Given the description of an element on the screen output the (x, y) to click on. 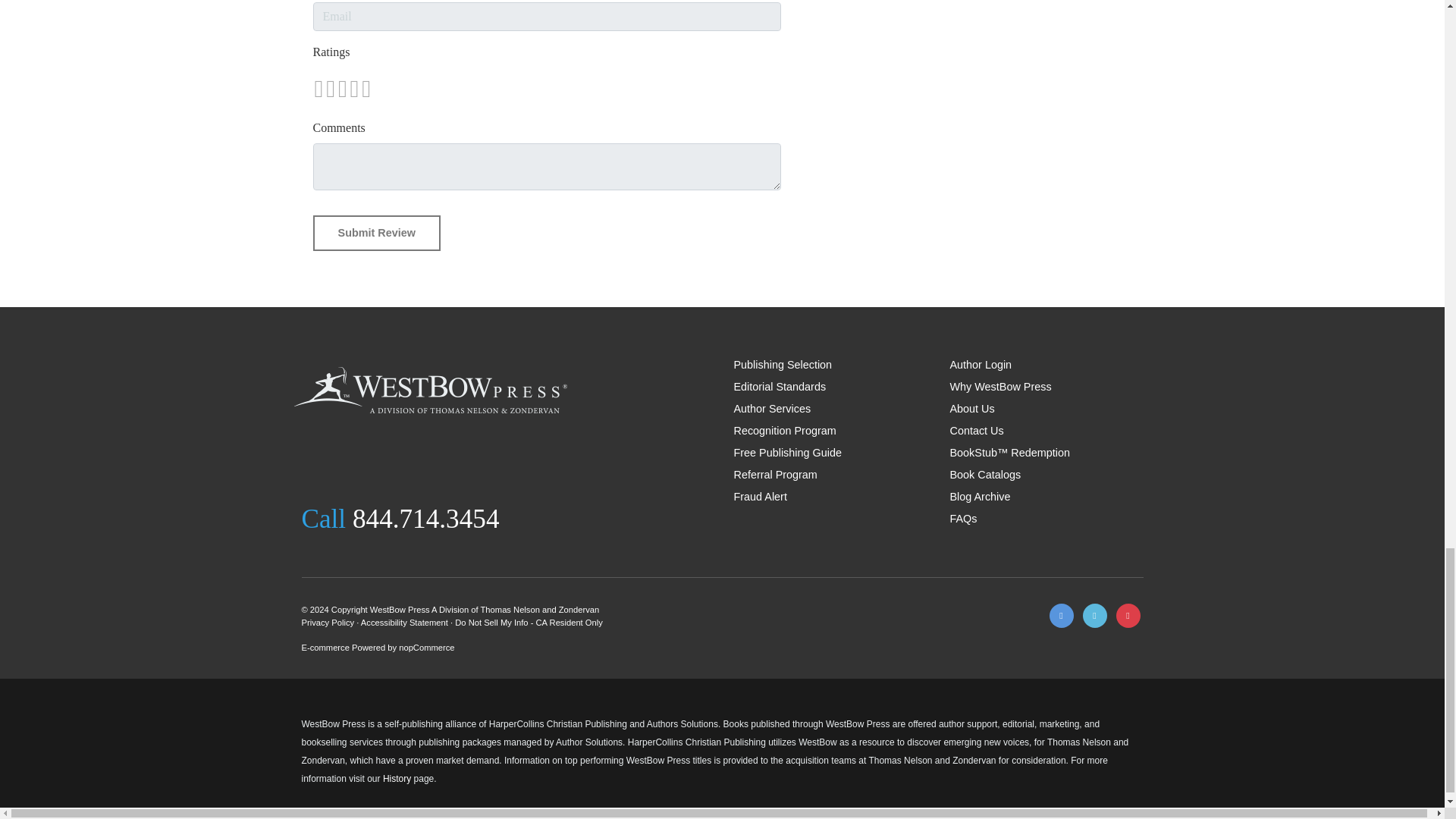
Fraud Alert (760, 496)
Recognition Program (784, 430)
About Us (971, 408)
Why WestBow Press (1000, 386)
Author Login (980, 364)
Referral Program (774, 474)
Editorial Standards (780, 386)
Contact Us (976, 430)
Do Not Sell My Info - CA Resident Only (528, 622)
Submit Review (377, 233)
Publishing Selection (782, 364)
Not Rated (342, 88)
Free Publishing Guide (787, 452)
Submit Review (377, 233)
Author Services (771, 408)
